Given the description of an element on the screen output the (x, y) to click on. 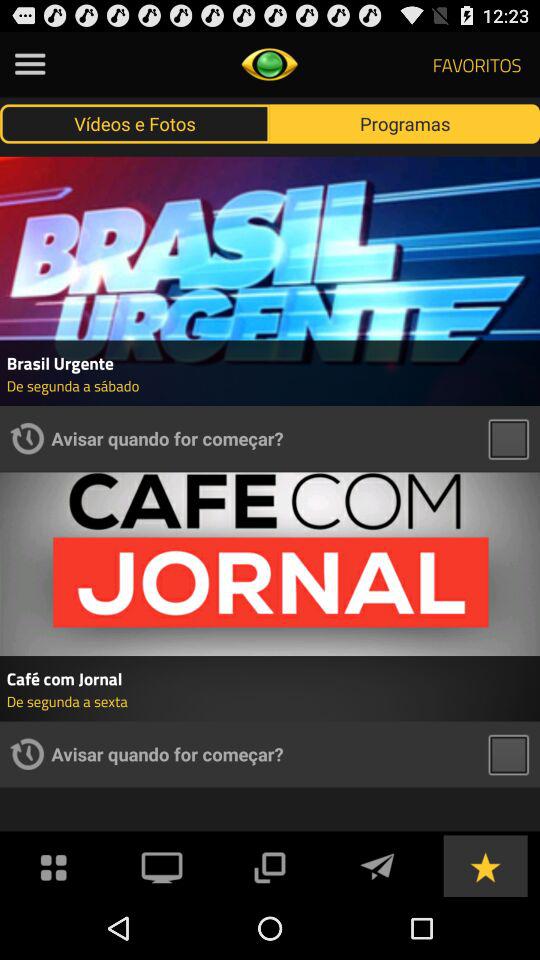
copy option (269, 865)
